Given the description of an element on the screen output the (x, y) to click on. 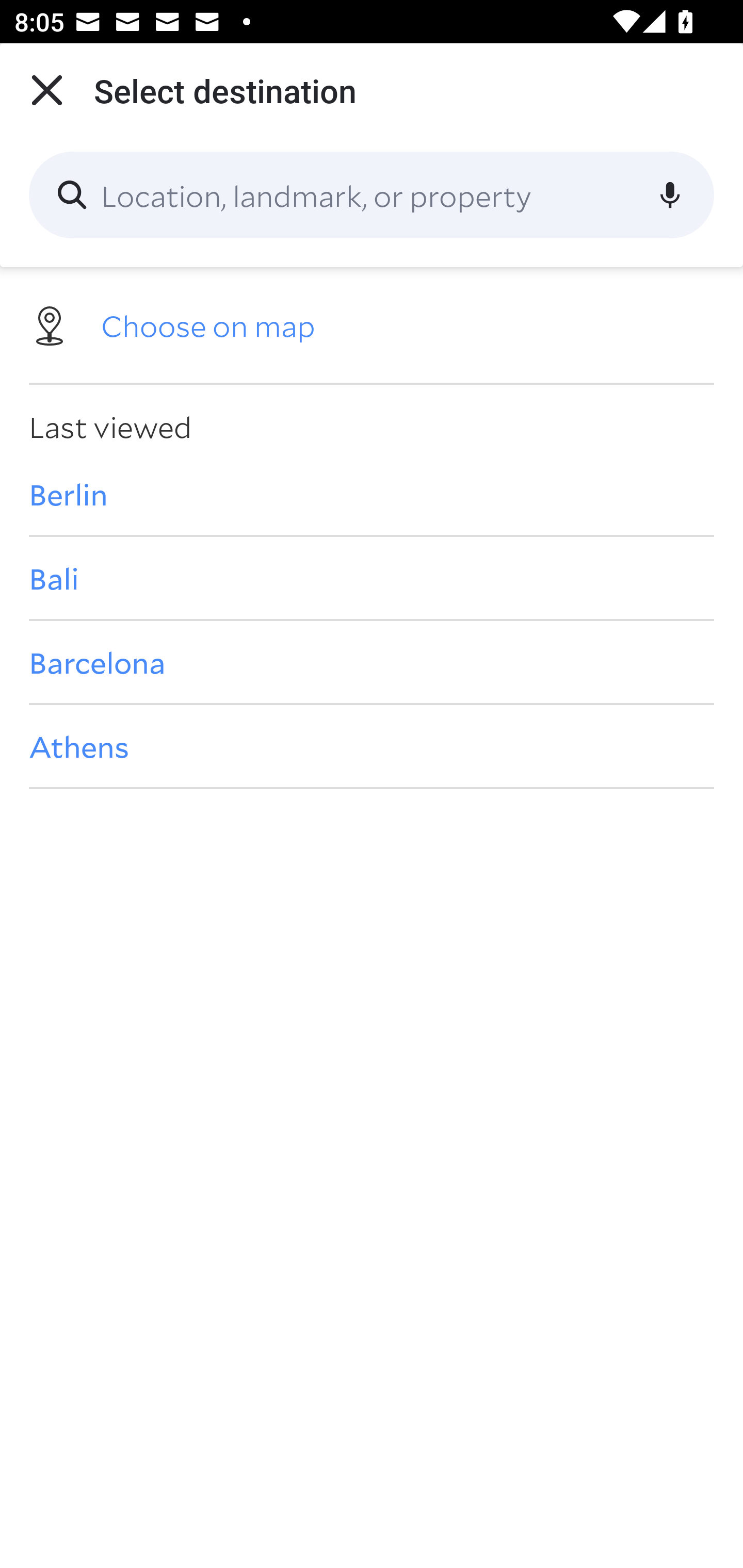
Location, landmark, or property (371, 195)
Choose on map (371, 324)
Berlin (371, 493)
Bali (371, 577)
Barcelona (371, 661)
Athens (371, 746)
